Given the description of an element on the screen output the (x, y) to click on. 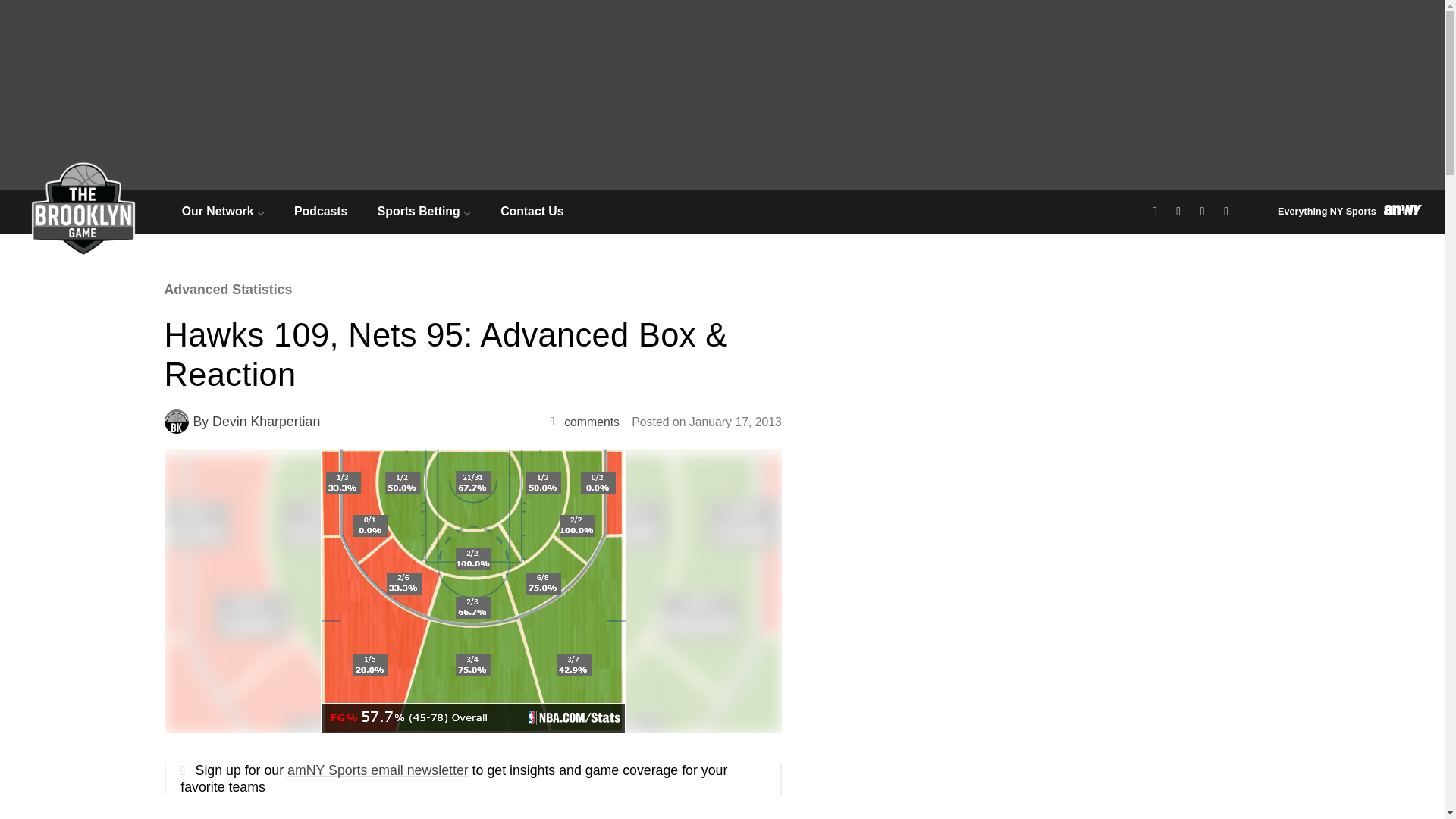
Contact Us (531, 210)
Everything NY Sports (1350, 210)
Podcasts (320, 210)
Posts by Devin Kharpertian (266, 421)
Sports Betting (423, 210)
3rd party ad content (1234, 768)
3rd party ad content (1234, 370)
Our Network (223, 210)
3rd party ad content (1234, 588)
